Given the description of an element on the screen output the (x, y) to click on. 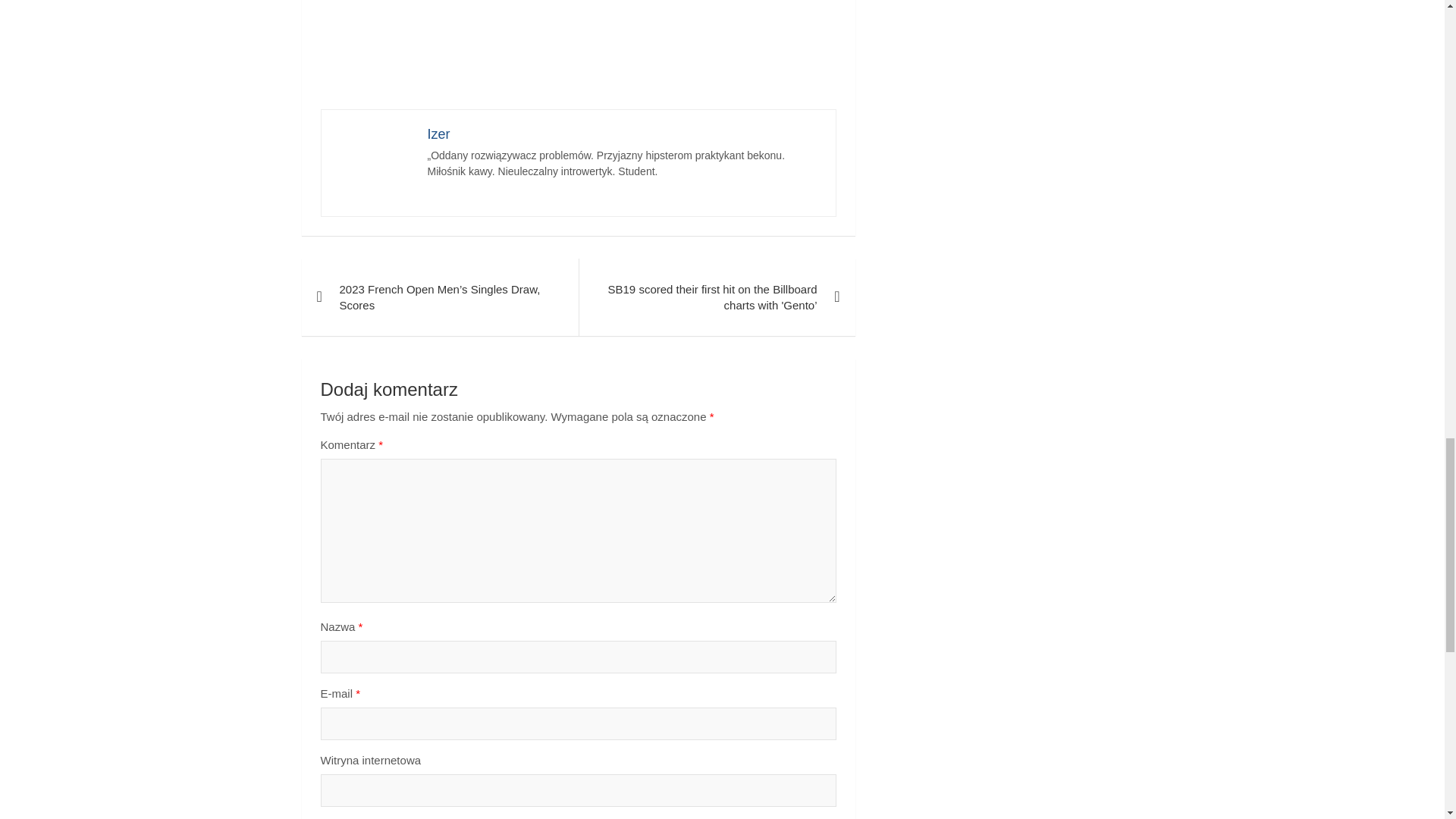
Izer (438, 133)
